Given the description of an element on the screen output the (x, y) to click on. 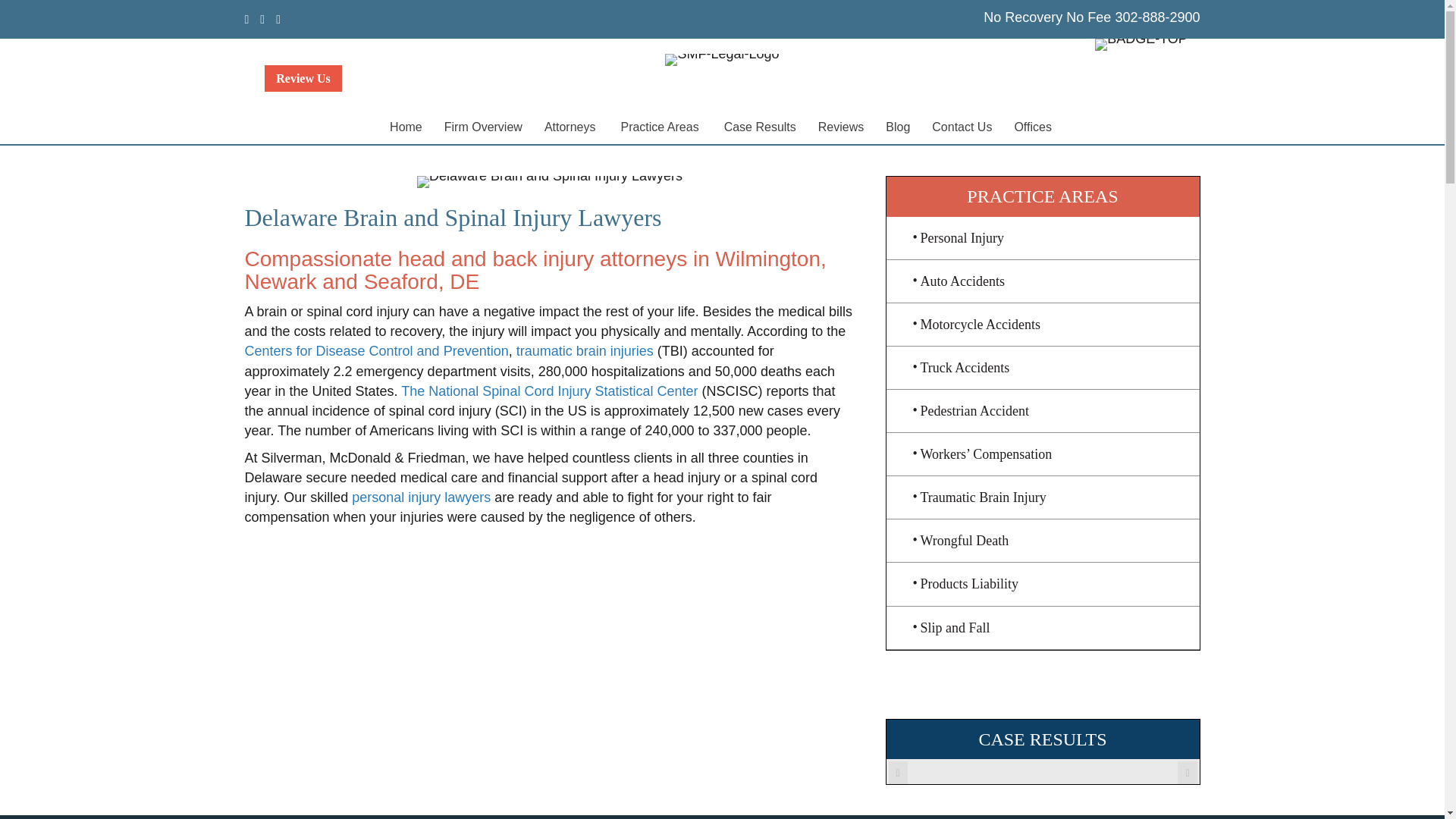
Attorneys (572, 127)
Review Us (303, 78)
Home (405, 127)
Delaware Brain and Spinal Injury Lawyers (549, 182)
Practice Areas (660, 127)
BADGE-TOP (1141, 44)
SMF-Legal-Logo (721, 60)
Firm Overview (482, 127)
302-888-2900 (1157, 17)
